Given the description of an element on the screen output the (x, y) to click on. 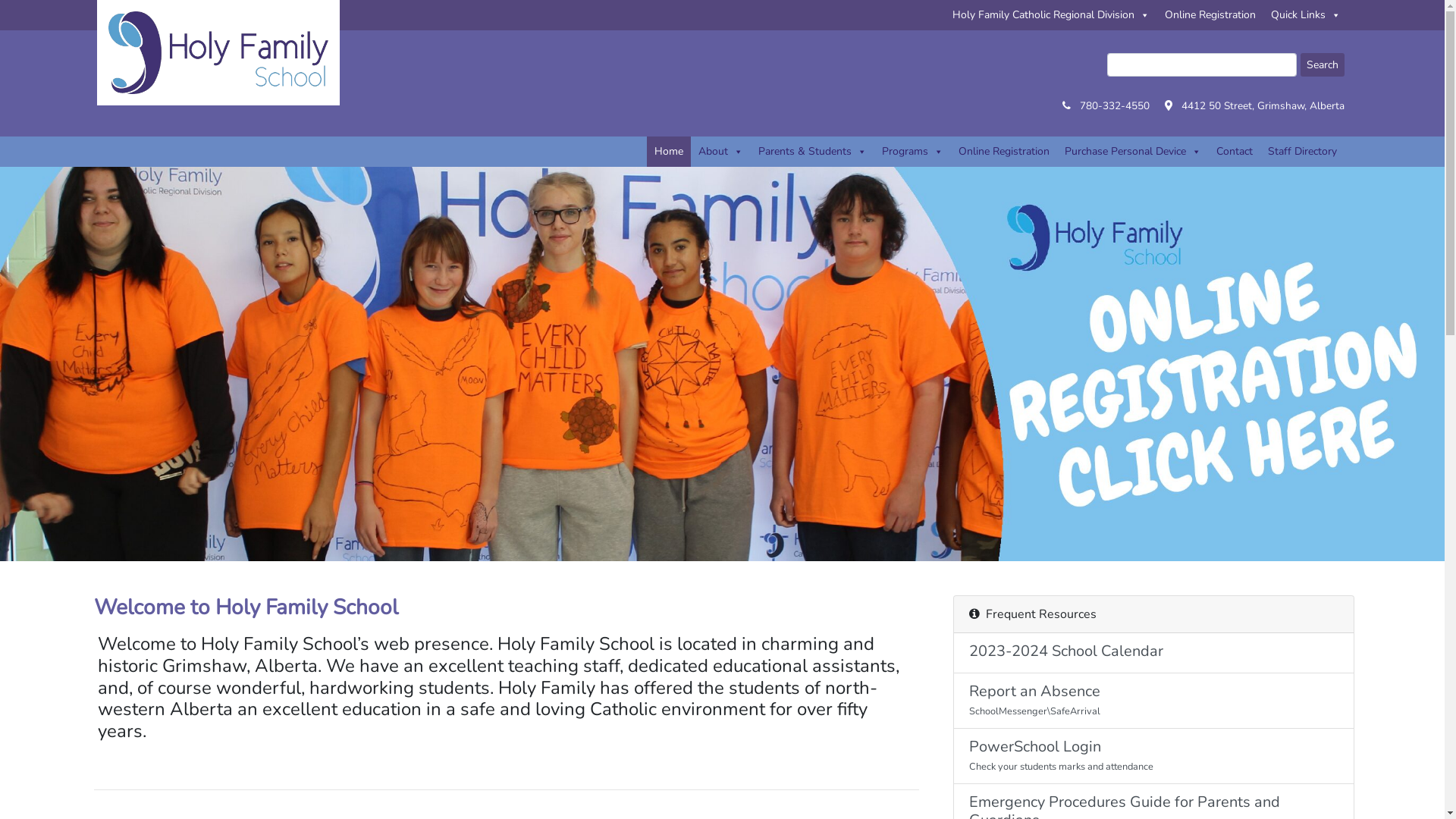
4412 50 Street, Grimshaw, Alberta Element type: text (1262, 105)
Staff Directory Element type: text (1302, 151)
Purchase Personal Device Element type: text (1132, 151)
Home Element type: text (668, 151)
About Element type: text (719, 151)
Online Registration Element type: text (1210, 15)
Online Registration Element type: text (1003, 151)
PowerSchool Login
Check your students marks and attendance Element type: text (1153, 756)
Contact Element type: text (1234, 151)
Report an Absence
SchoolMessenger\SafeArrival Element type: text (1153, 700)
Parents & Students Element type: text (812, 151)
Programs Element type: text (911, 151)
Holy Family Catholic Regional Division Element type: text (1050, 15)
2023-2024 School Calendar Element type: text (1153, 653)
Search Element type: text (1321, 64)
Quick Links Element type: text (1305, 15)
